Given the description of an element on the screen output the (x, y) to click on. 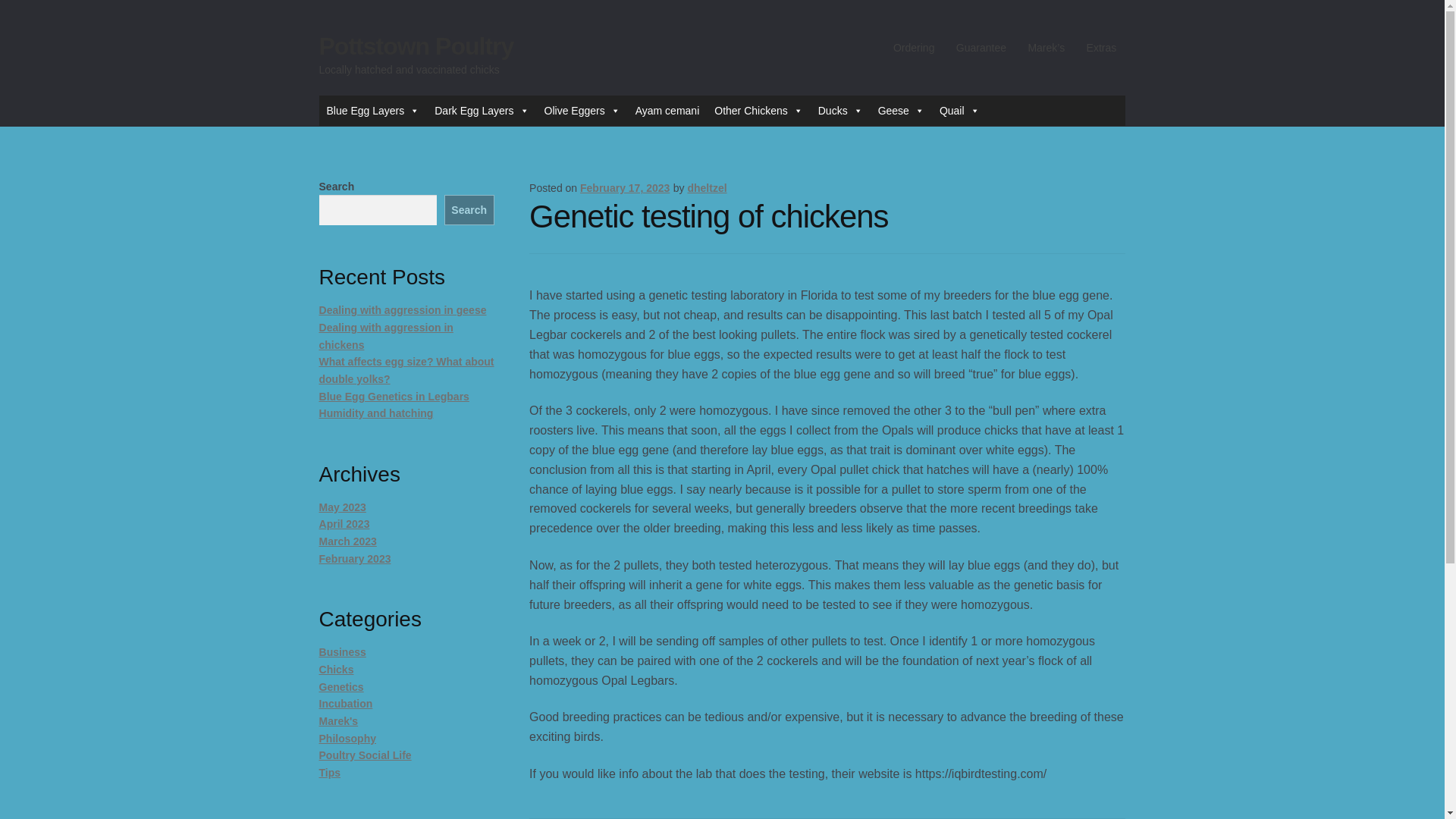
Guarantee (981, 47)
Blue Egg Layers (373, 110)
Ordering (913, 47)
Dark Egg Layers (480, 110)
Other Chickens (757, 110)
Extras (1101, 47)
Ayam cemani (667, 110)
Pottstown Poultry (415, 45)
Olive Eggers (582, 110)
